Given the description of an element on the screen output the (x, y) to click on. 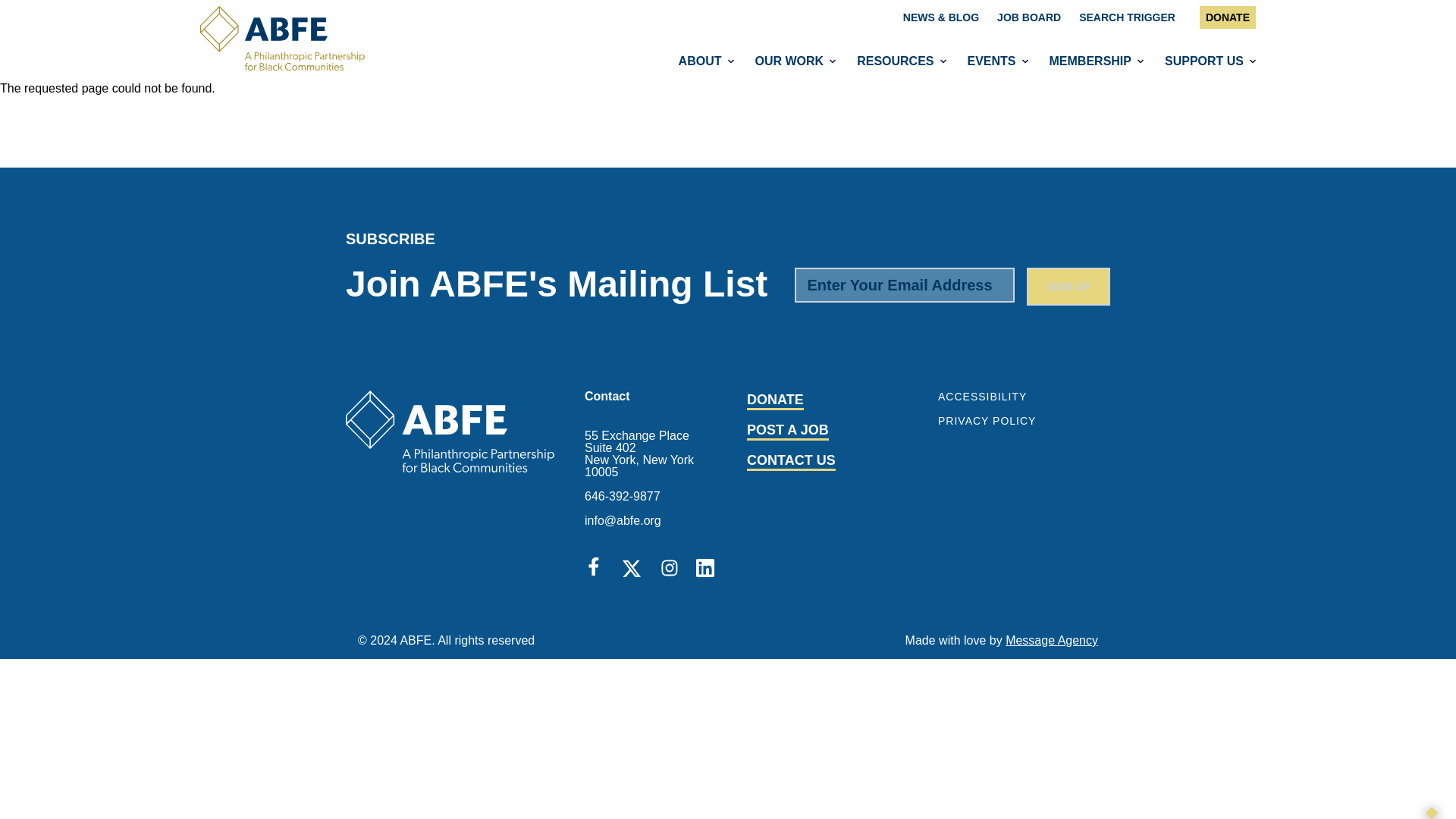
JOB BOARD (1029, 17)
MEMBERSHIP (1089, 60)
Facebook (596, 568)
Click to reveal search bar (1126, 17)
DONATE (1227, 16)
Instagram (671, 567)
Sign Up (1067, 286)
Twitter (634, 568)
OUR WORK (787, 60)
SUPPORT US (1202, 60)
